Given the description of an element on the screen output the (x, y) to click on. 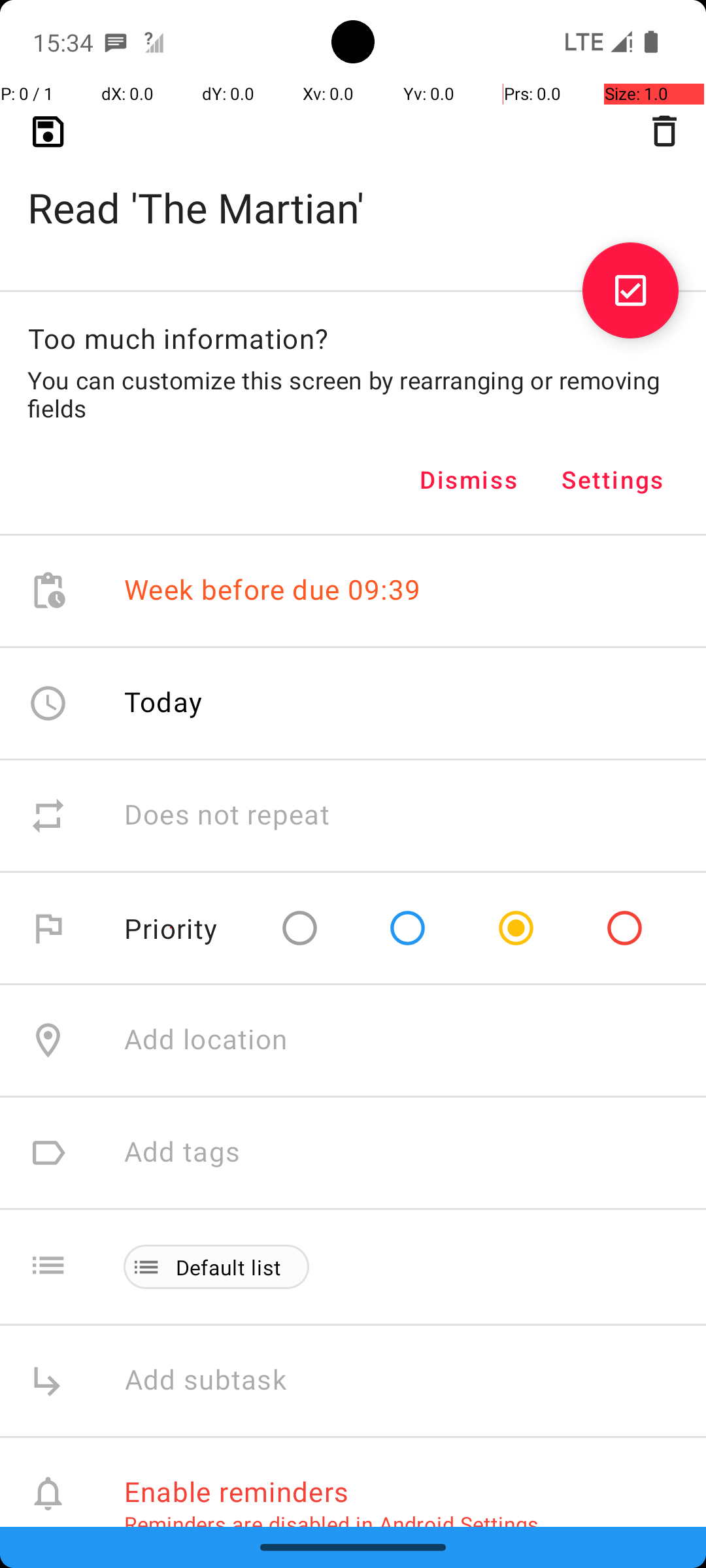
Week before due 09:39 Element type: android.widget.TextView (272, 590)
